Given the description of an element on the screen output the (x, y) to click on. 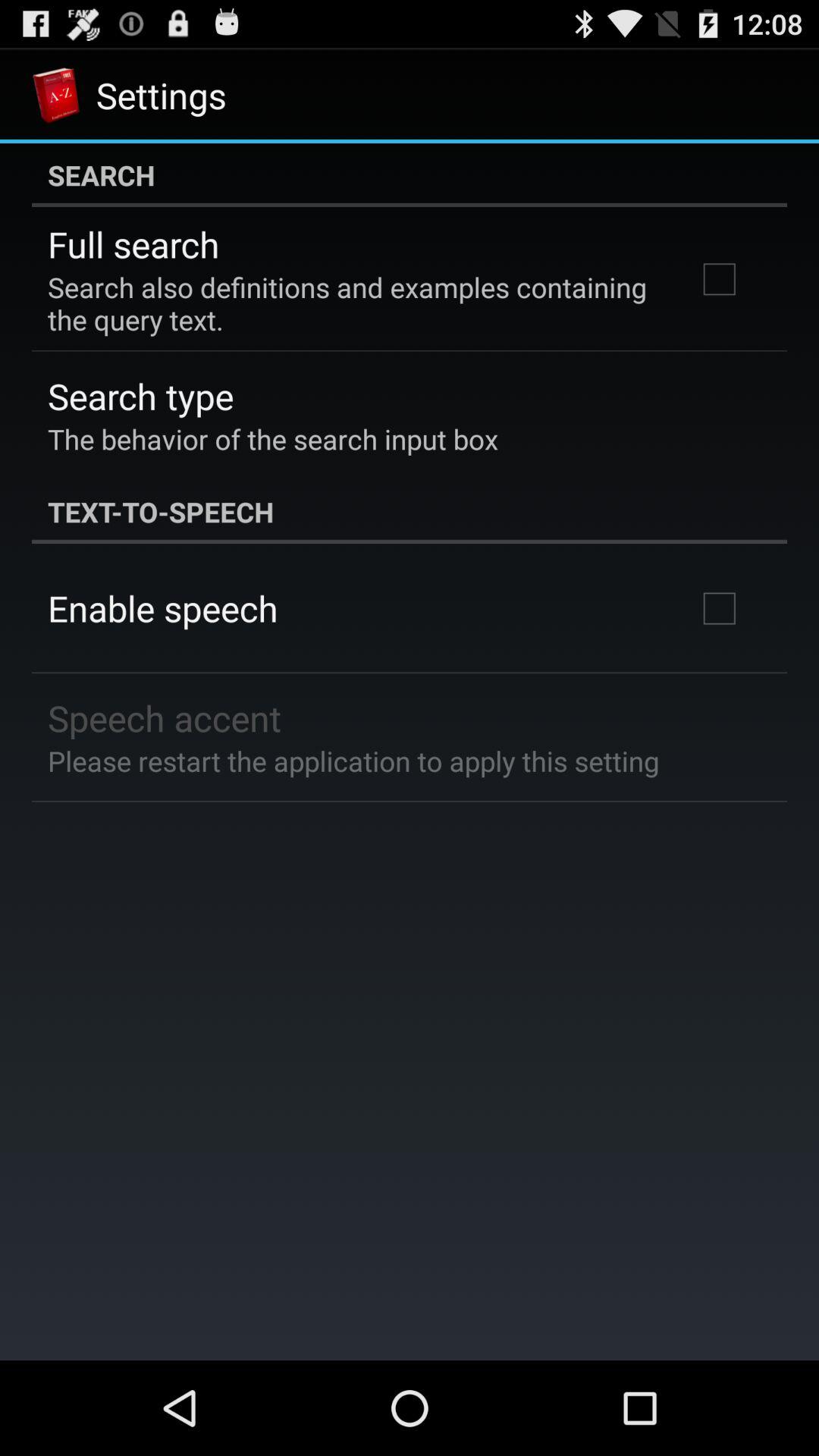
choose speech accent item (164, 717)
